Given the description of an element on the screen output the (x, y) to click on. 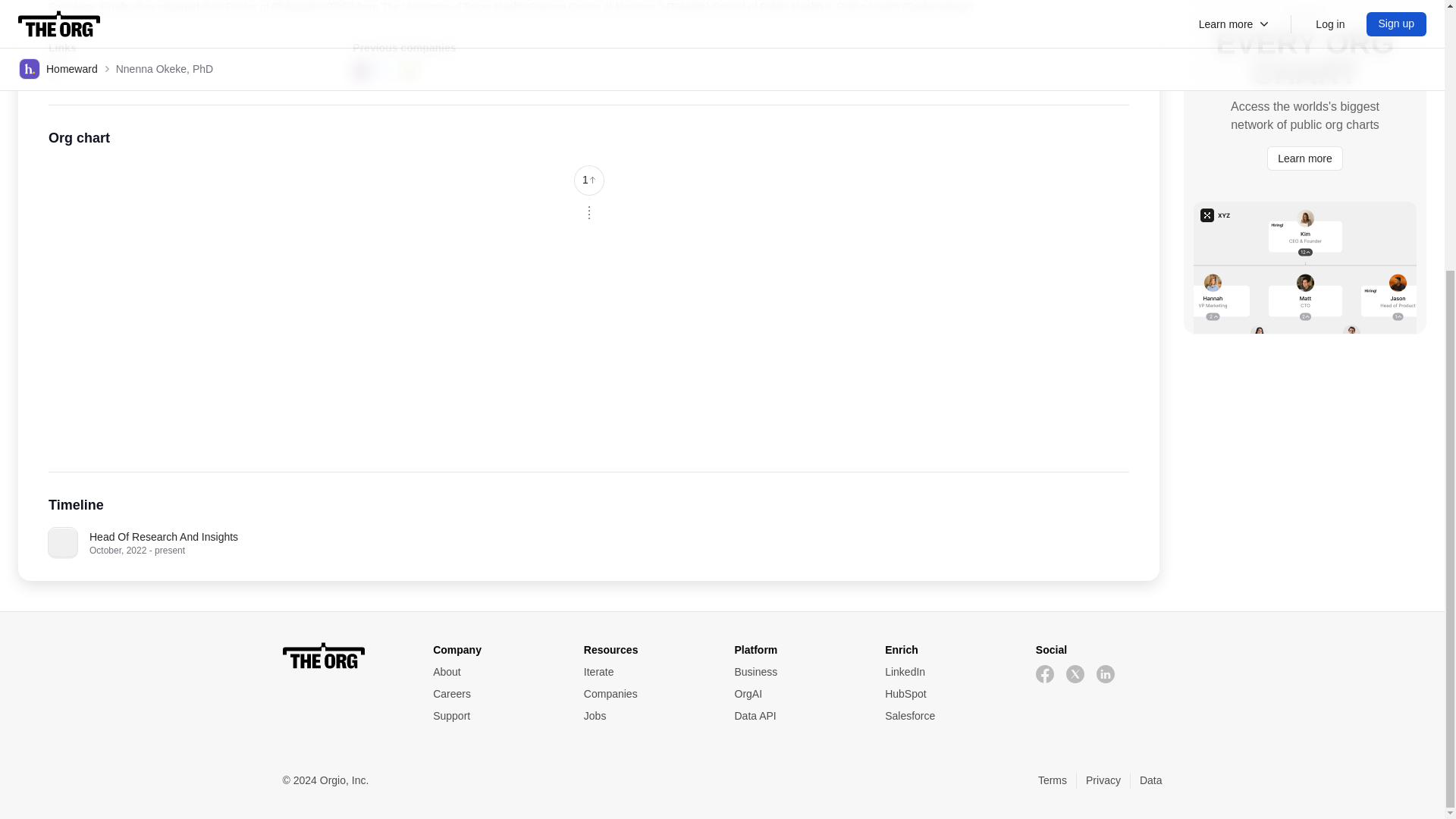
American Medical Association (361, 71)
Companies (646, 693)
OrgAI (796, 693)
Careers (495, 693)
Support (495, 715)
Careers (495, 693)
View on linkedIn (55, 69)
About (495, 672)
Business (796, 672)
Support (495, 715)
